Given the description of an element on the screen output the (x, y) to click on. 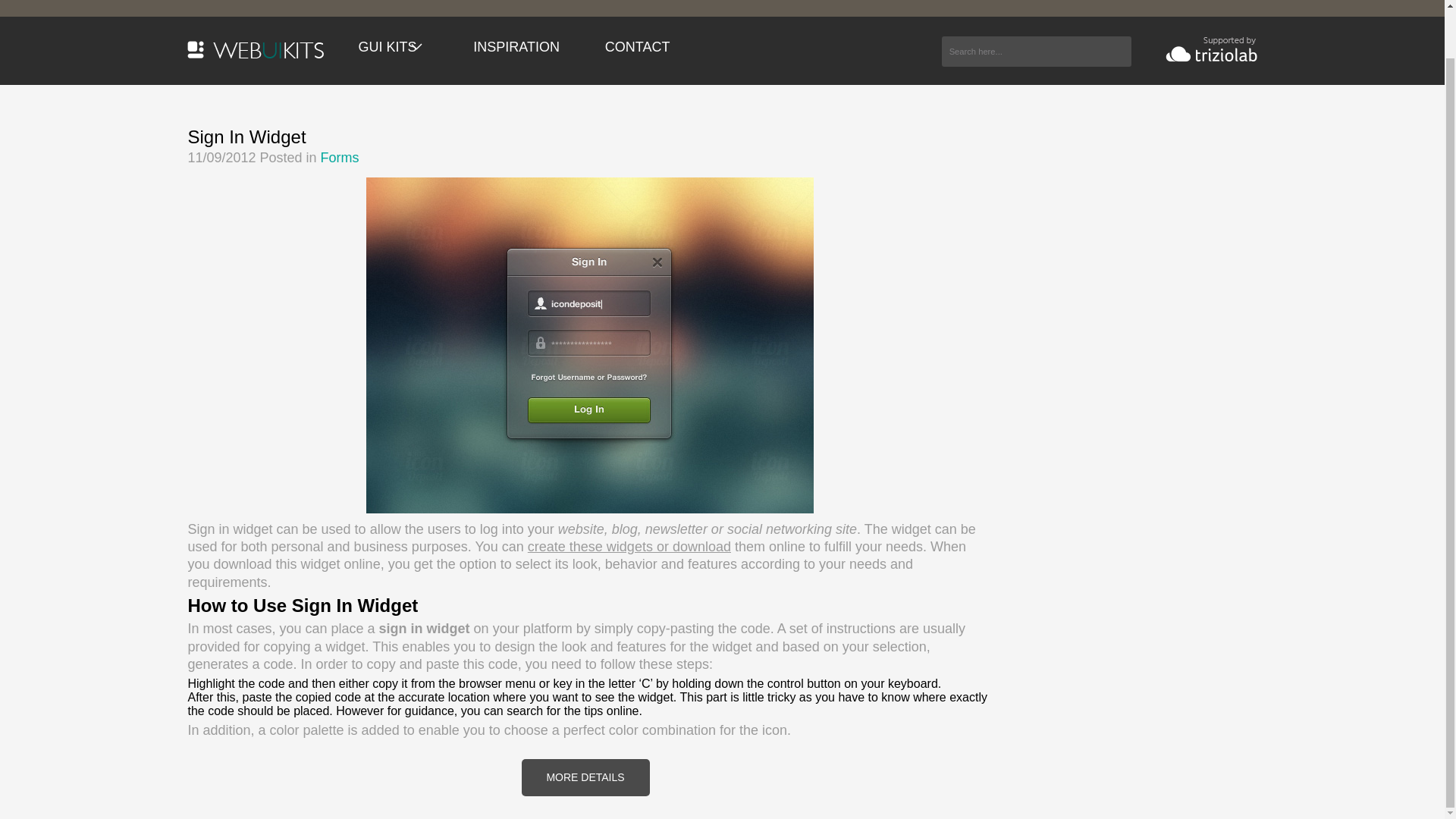
GUI KITS (393, 47)
INSPIRATION (516, 46)
CONTACT (637, 46)
